Given the description of an element on the screen output the (x, y) to click on. 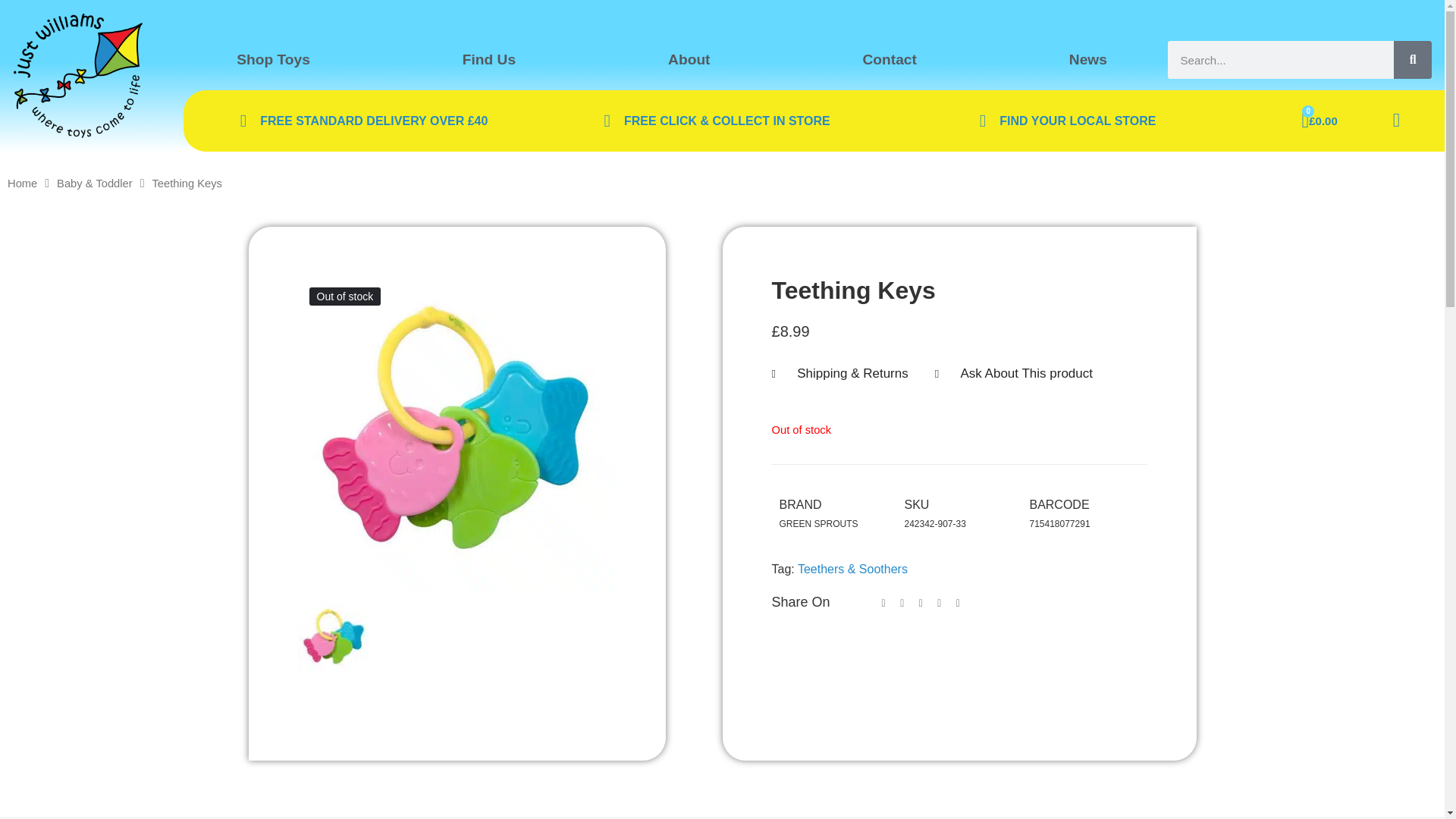
Shop Toys (272, 59)
